Given the description of an element on the screen output the (x, y) to click on. 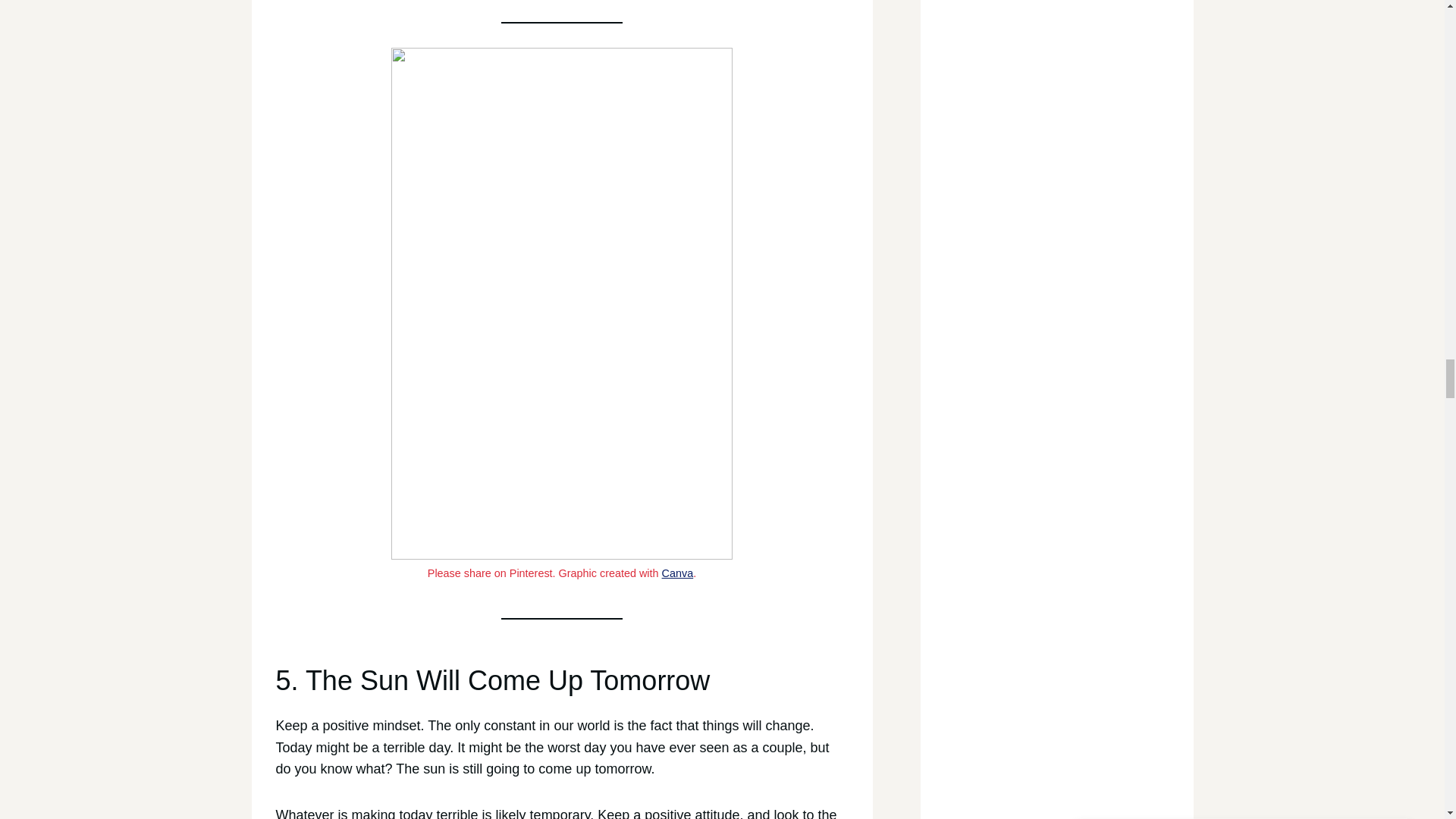
Canva (678, 573)
